Given the description of an element on the screen output the (x, y) to click on. 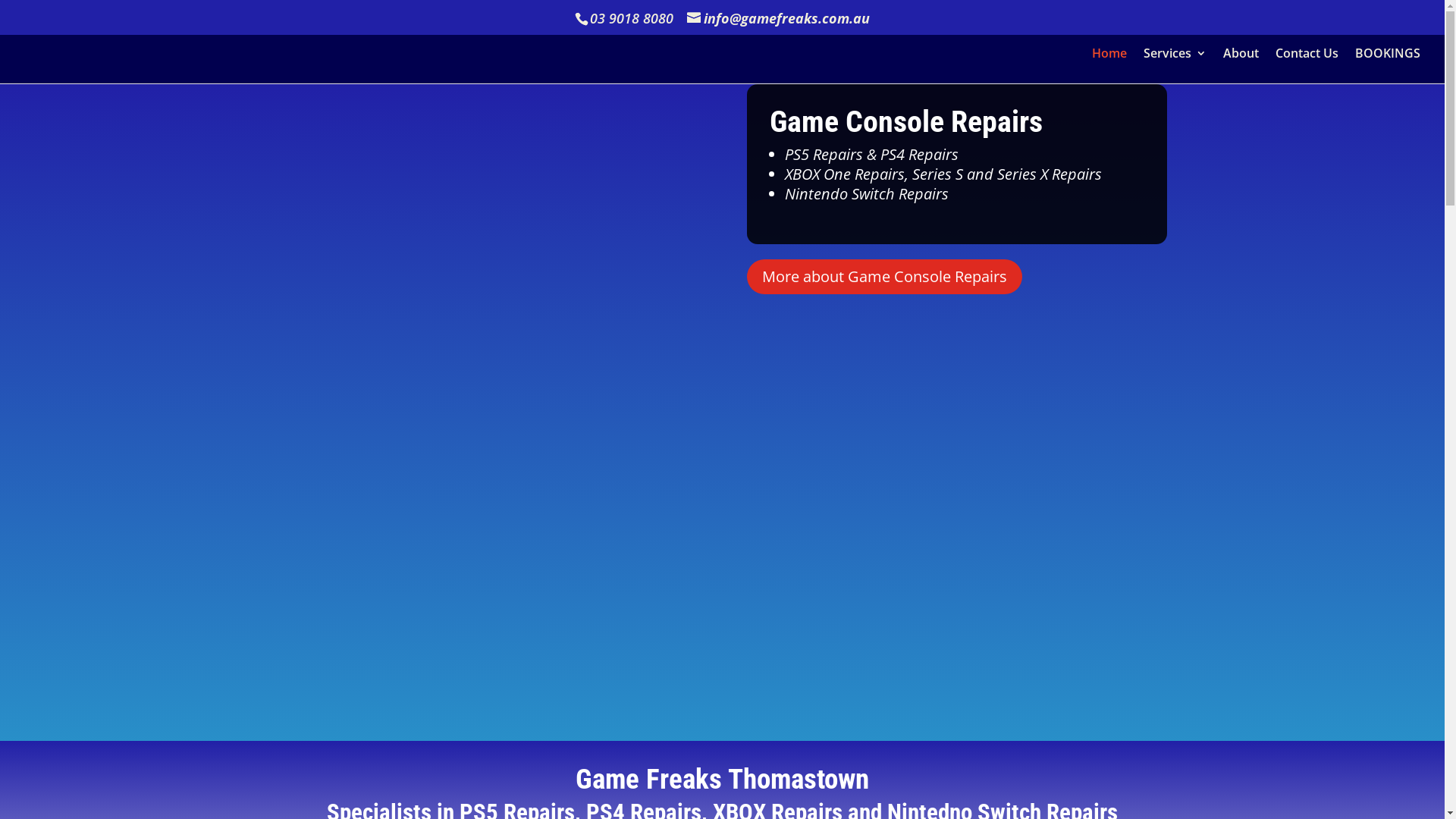
About Element type: text (1240, 65)
BOOKINGS Element type: text (1387, 65)
Home Element type: text (1109, 65)
Services Element type: text (1174, 65)
More about Game Console Repairs Element type: text (884, 276)
info@gamefreaks.com.au Element type: text (778, 18)
Game Console Repairs Element type: text (905, 121)
Contact Us Element type: text (1306, 65)
